Given the description of an element on the screen output the (x, y) to click on. 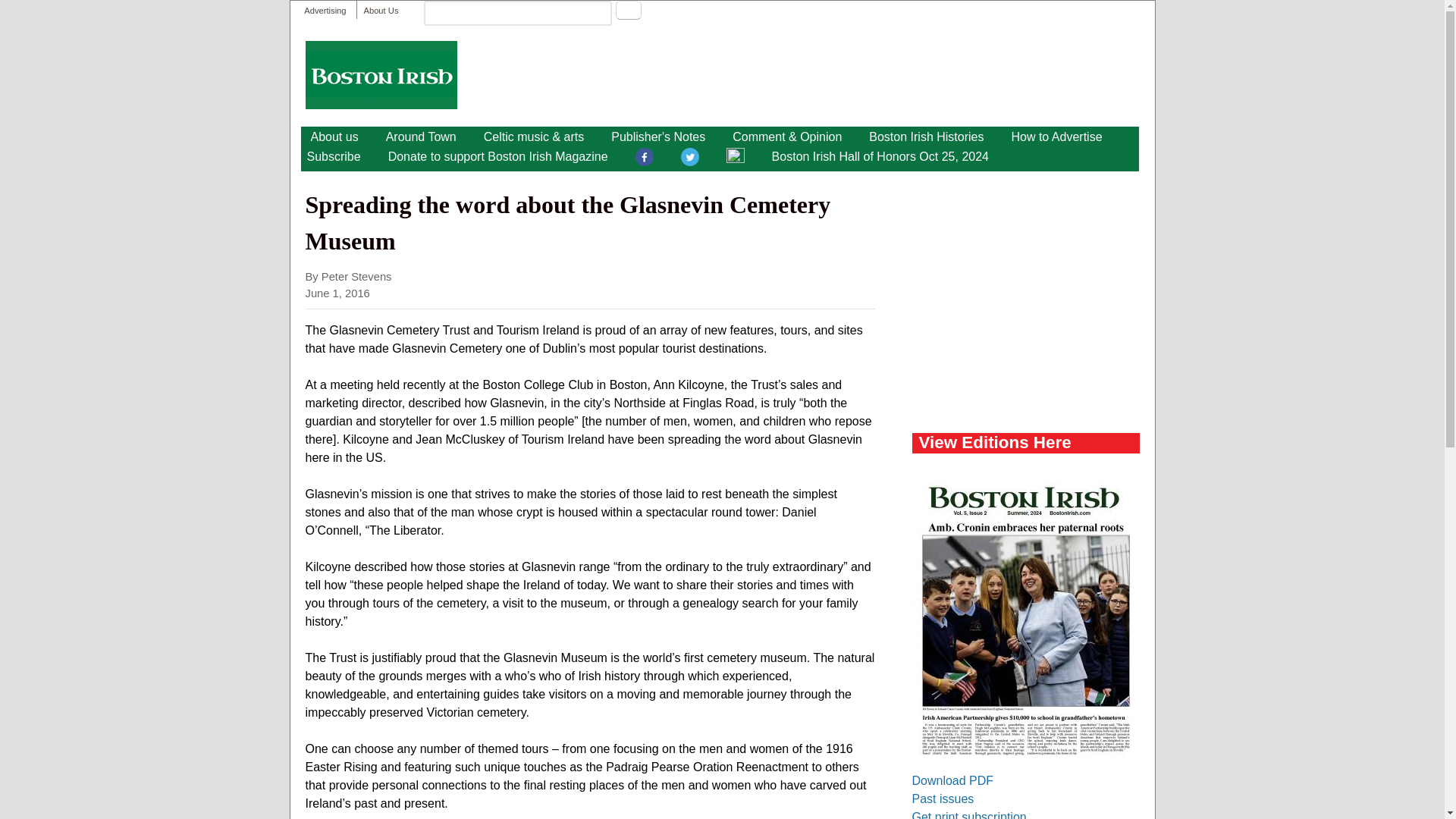
By BI Magazine staff (421, 136)
Past issues (942, 798)
Search (628, 9)
About Us (379, 10)
3rd party ad content (1024, 296)
About Boston Irish (334, 136)
Boston Irish Hall of Honors Oct 25, 2024 (879, 157)
Advertising (324, 10)
Download PDF (951, 780)
